Given the description of an element on the screen output the (x, y) to click on. 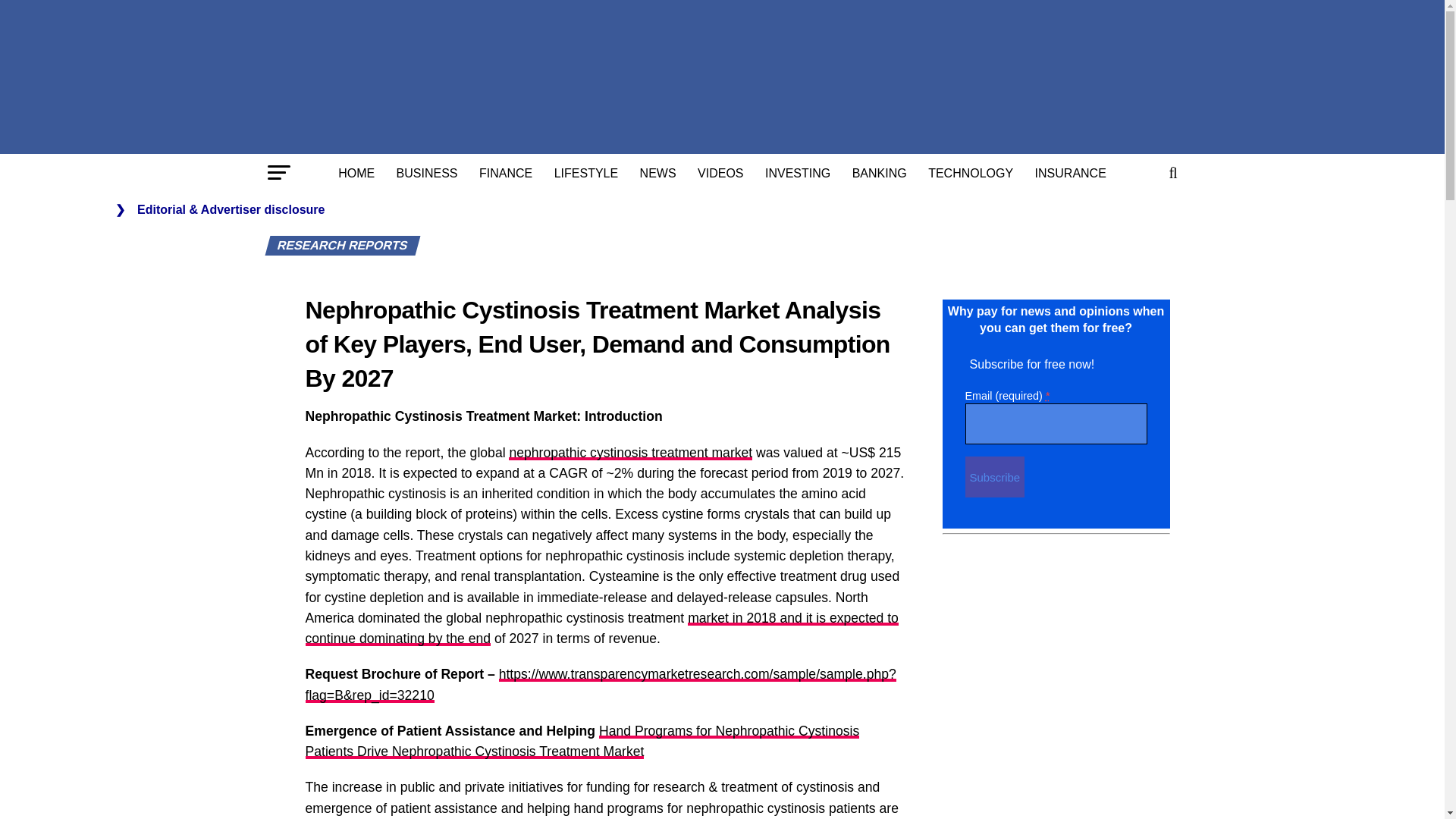
NEWS (657, 173)
VIDEOS (720, 173)
Subscribe (994, 476)
HOME (356, 173)
LIFESTYLE (585, 173)
Finance (505, 173)
Home (356, 173)
FINANCE (505, 173)
News (657, 173)
BUSINESS (427, 173)
